Given the description of an element on the screen output the (x, y) to click on. 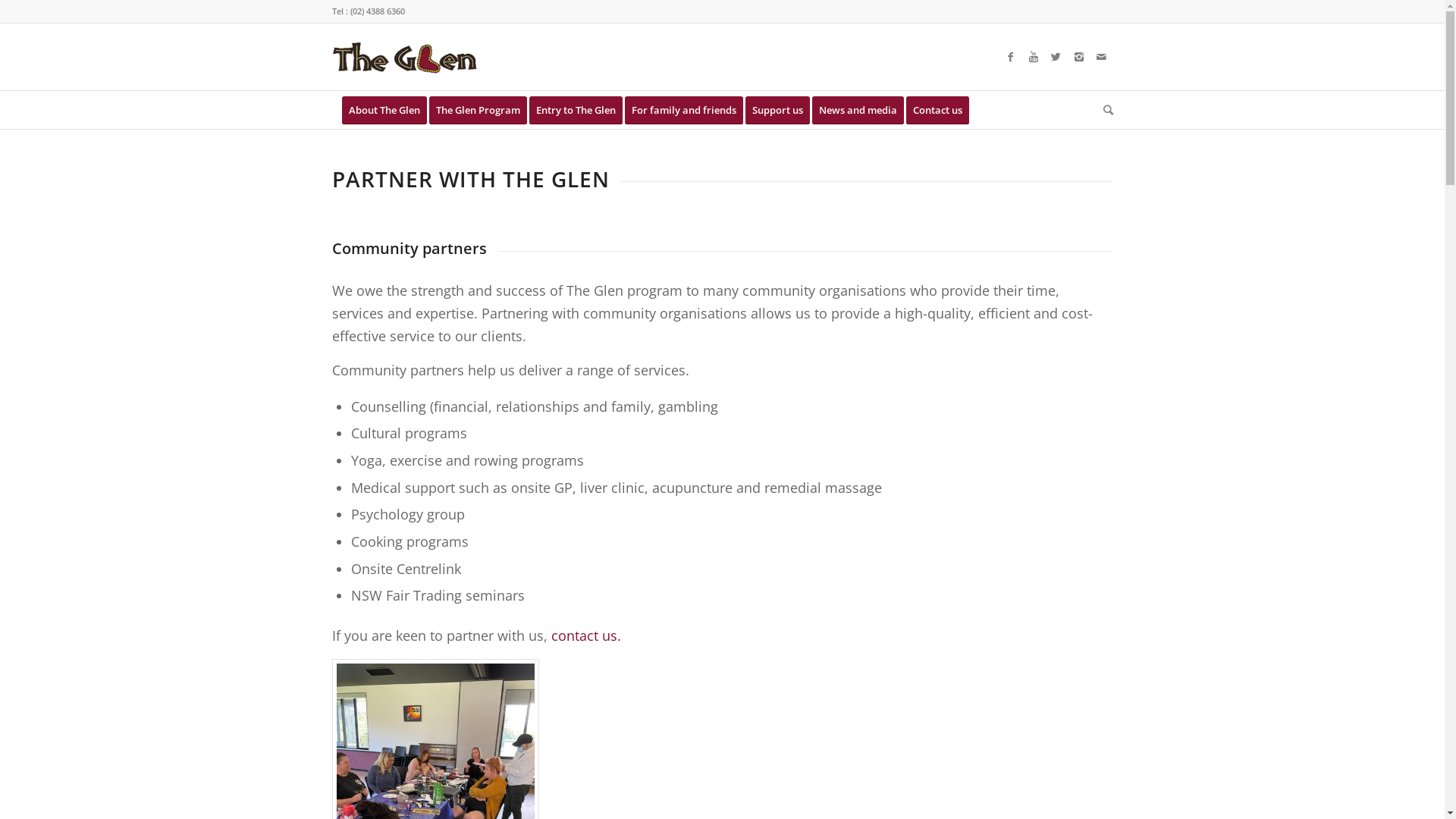
Facebook Element type: hover (1010, 56)
Twitter Element type: hover (1055, 56)
The Glen Program Element type: text (482, 109)
Mail Element type: hover (1101, 56)
Youtube Element type: hover (1033, 56)
News and media Element type: text (862, 109)
About The Glen Element type: text (384, 109)
Contact us Element type: text (941, 109)
For family and friends Element type: text (688, 109)
Instagram Element type: hover (1078, 56)
Support us Element type: text (781, 109)
contact us. Element type: text (585, 635)
Entry to The Glen Element type: text (580, 109)
